Given the description of an element on the screen output the (x, y) to click on. 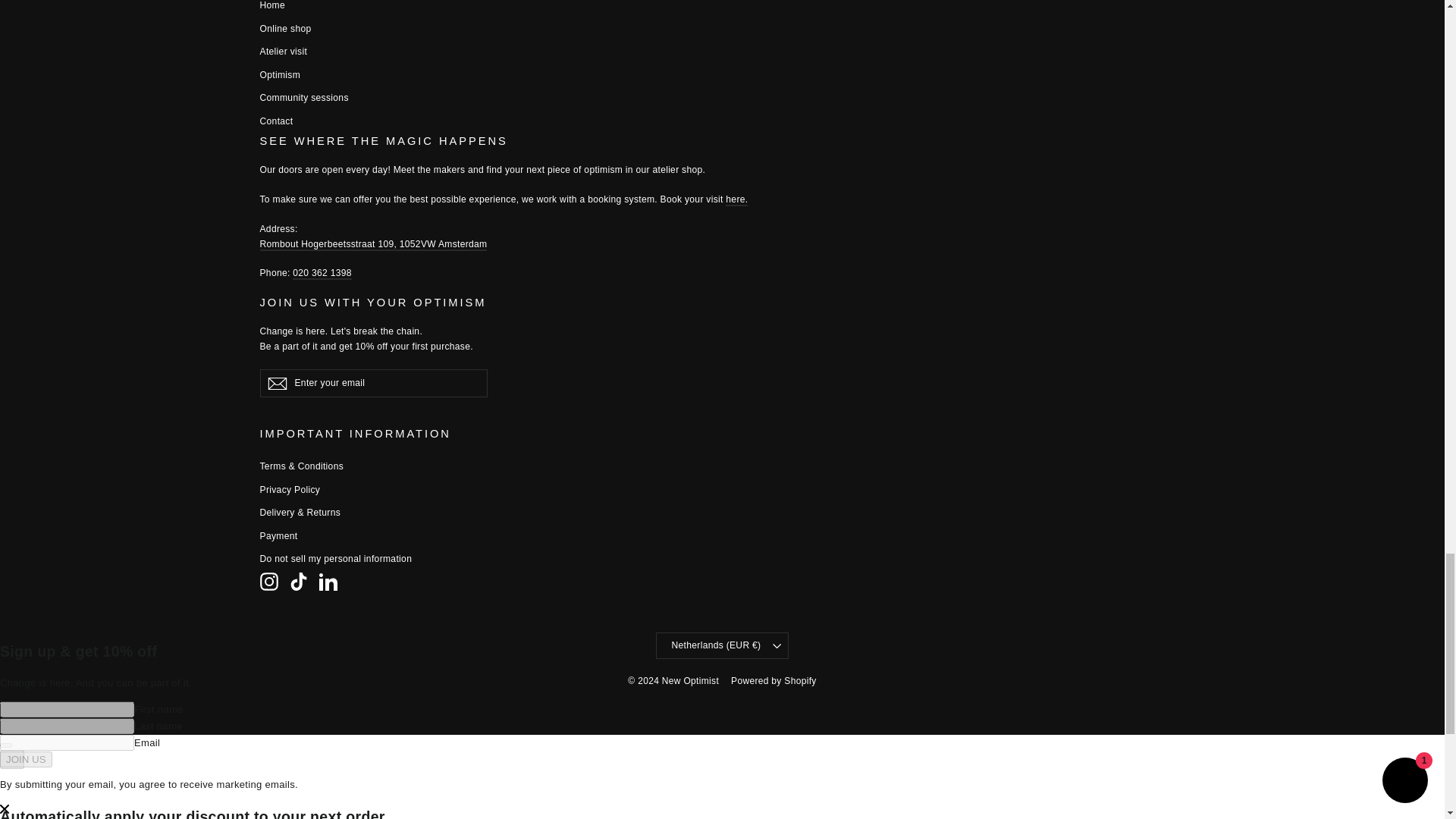
New Optimist on LinkedIn (327, 581)
icon-email (276, 383)
instagram (268, 581)
New Optimist on Instagram (268, 581)
Atelier-shop (736, 200)
New Optimist on TikTok (298, 581)
tel:0203621398 (322, 273)
